Given the description of an element on the screen output the (x, y) to click on. 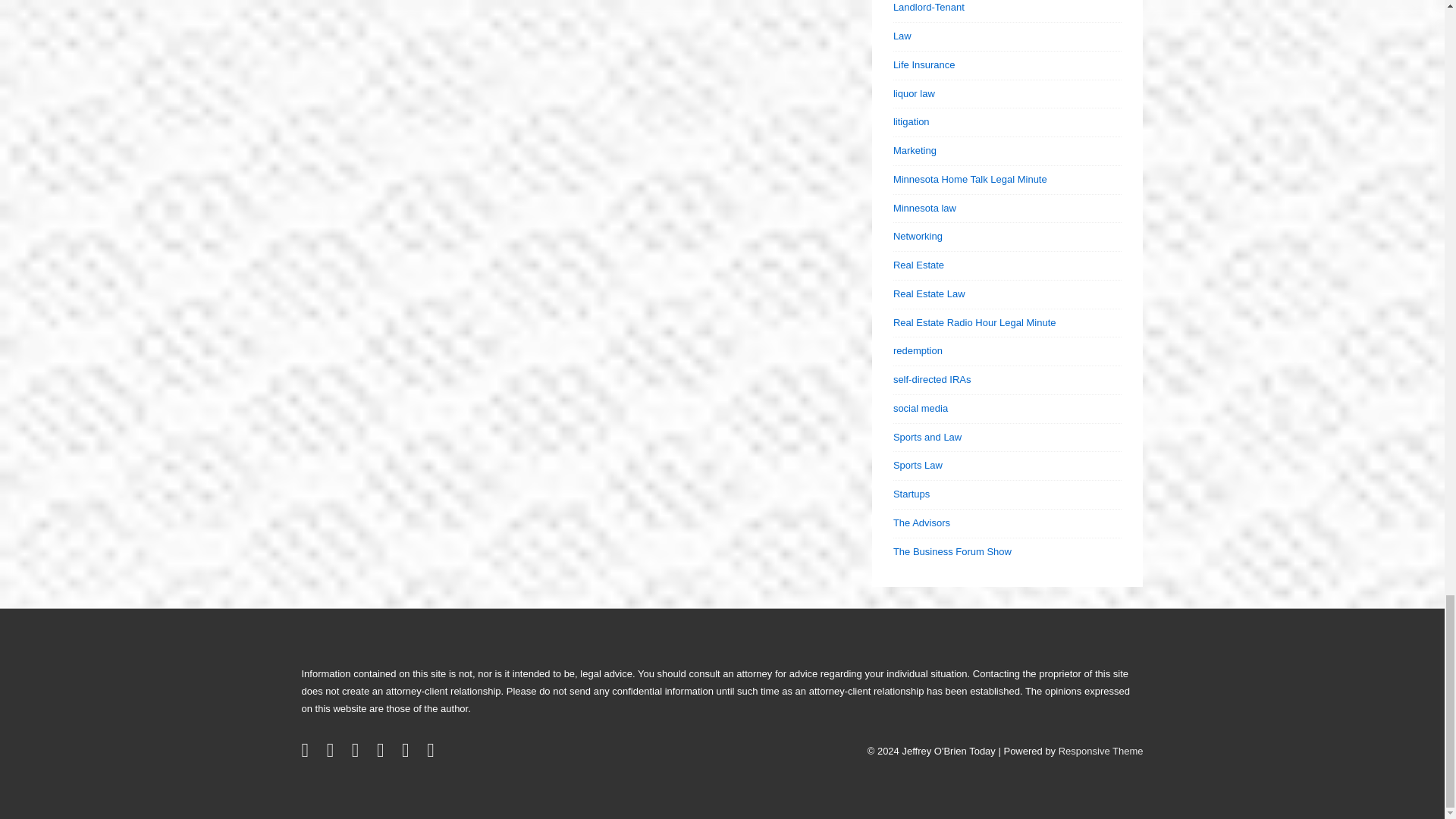
rss (407, 753)
twitter (308, 753)
linkedin (358, 753)
youtube (383, 753)
foursquare (432, 753)
facebook (333, 753)
